Given the description of an element on the screen output the (x, y) to click on. 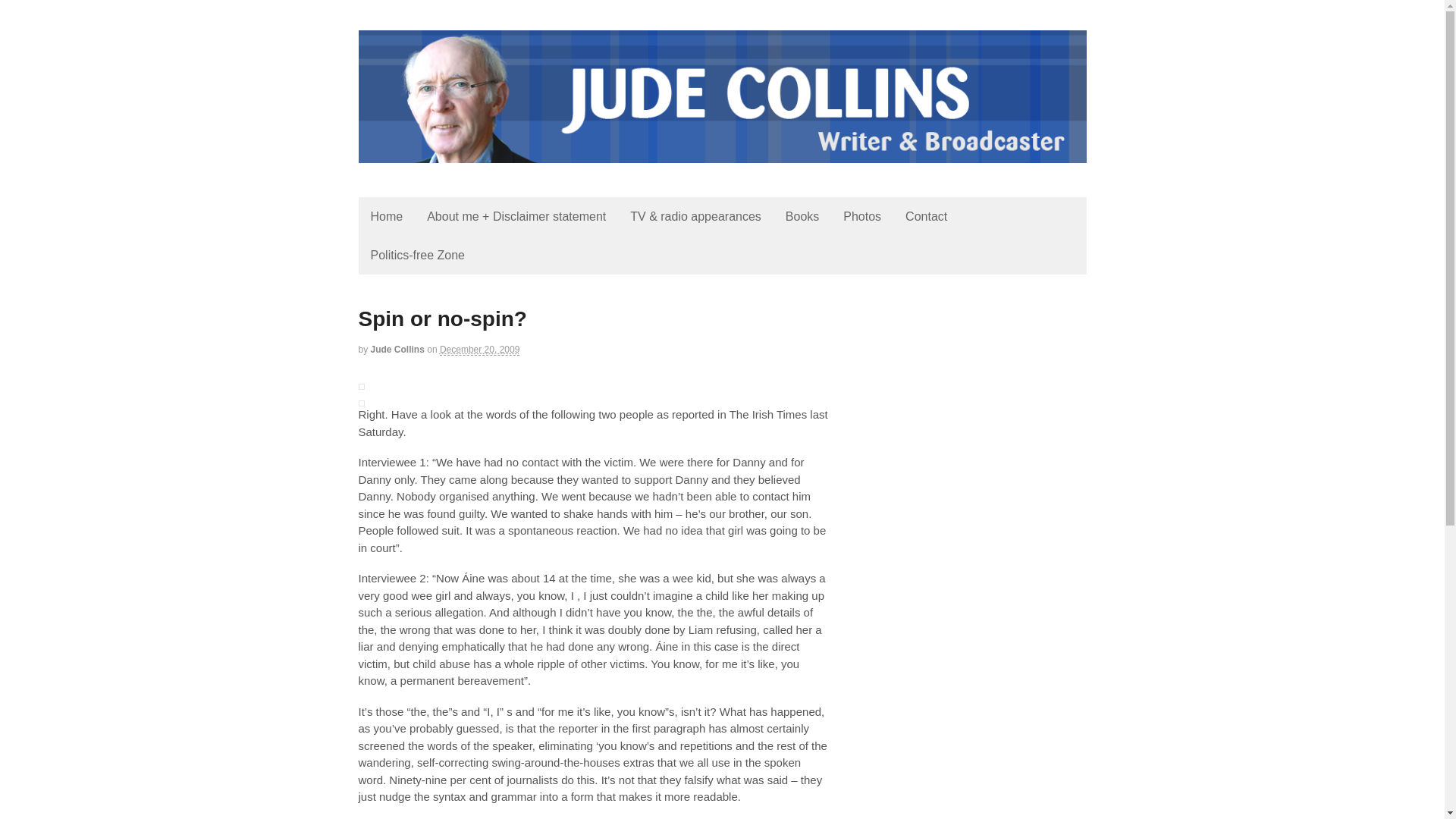
Photos (862, 216)
Posts by Jude Collins (398, 348)
Books (802, 216)
Politics-free Zone (417, 254)
Home (386, 216)
Jude Collins (398, 348)
Jude Collins (448, 177)
Contact (926, 216)
